Given the description of an element on the screen output the (x, y) to click on. 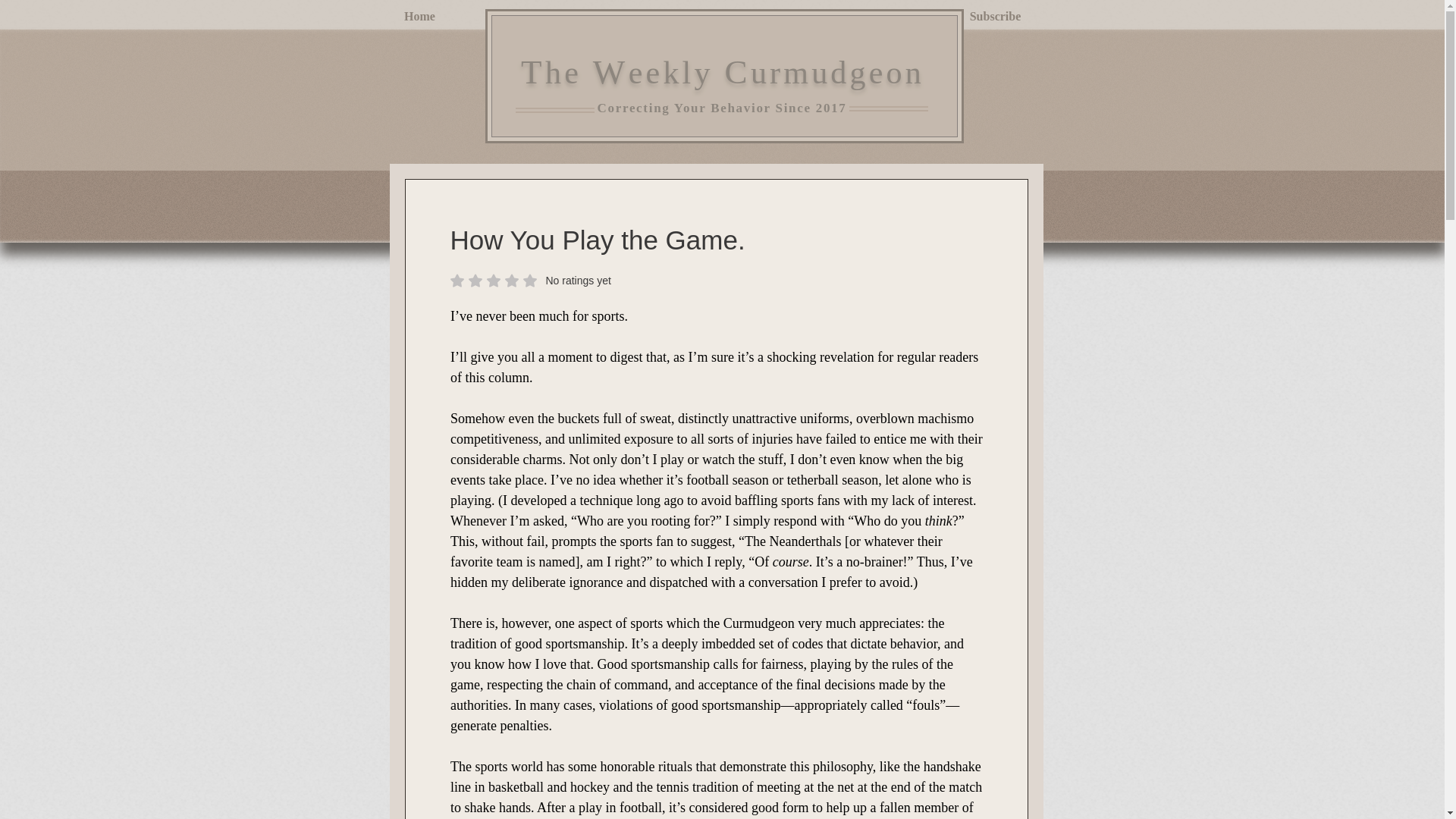
urmudgeon (837, 72)
Home (419, 15)
eekly (530, 280)
he (676, 72)
The Curmudgeon Recommends... (568, 72)
Subscribe (803, 15)
W (994, 15)
About (610, 71)
